Given the description of an element on the screen output the (x, y) to click on. 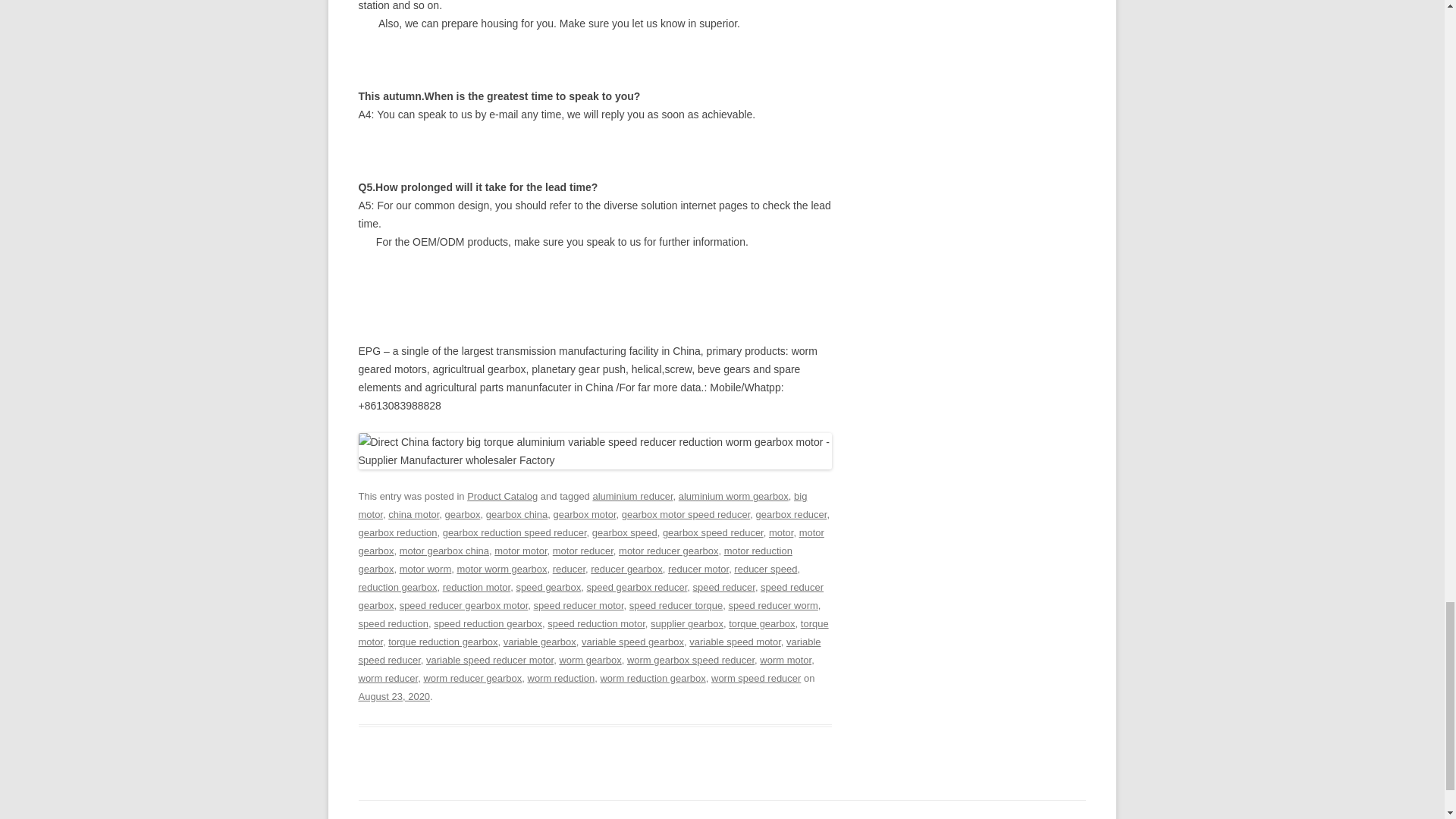
motor gearbox (591, 541)
china motor (413, 514)
speed reducer gearbox motor (463, 604)
motor worm (424, 568)
gearbox reduction (397, 532)
motor motor (521, 550)
motor gearbox china (443, 550)
reducer gearbox (626, 568)
motor reducer (582, 550)
speed gearbox reducer (636, 586)
gearbox motor speed reducer (686, 514)
reduction gearbox (397, 586)
motor reduction gearbox (575, 559)
11:34 pm (393, 696)
motor worm gearbox (502, 568)
